Given the description of an element on the screen output the (x, y) to click on. 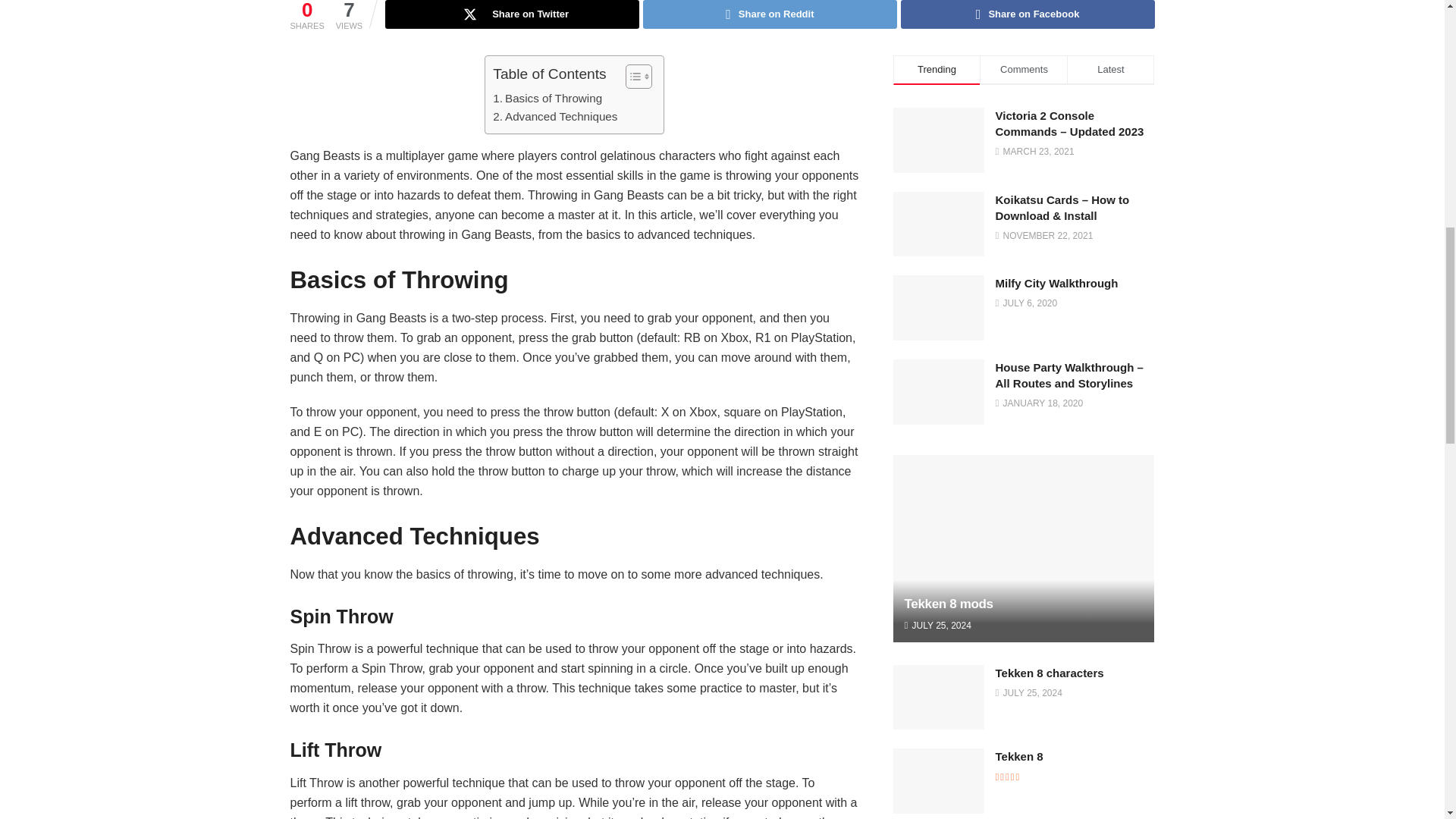
Advanced Techniques (555, 116)
Basics of Throwing (547, 98)
